Given the description of an element on the screen output the (x, y) to click on. 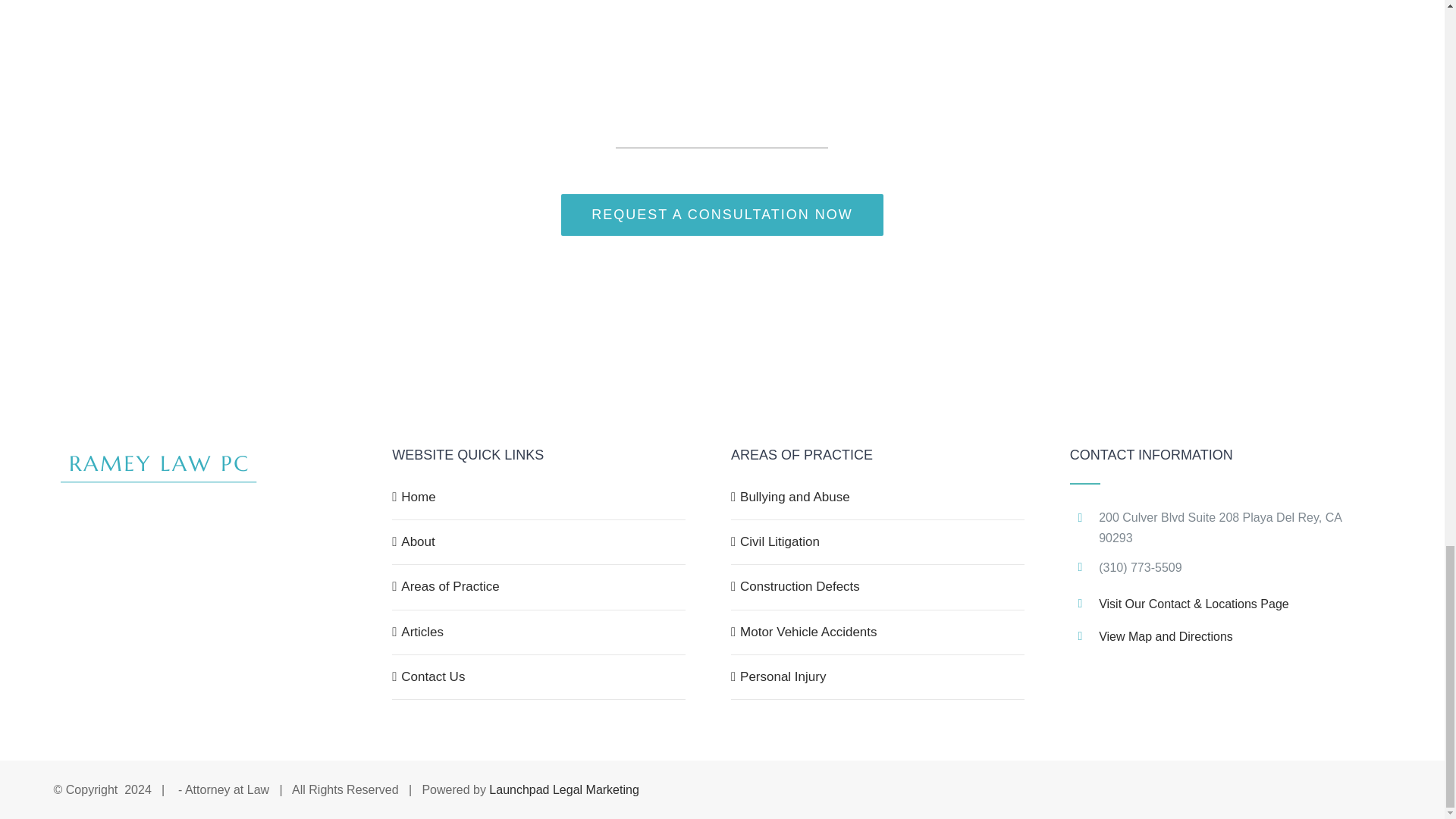
REQUEST A CONSULTATION NOW (721, 214)
About (539, 541)
Areas of Practice (539, 586)
Home (539, 497)
